Given the description of an element on the screen output the (x, y) to click on. 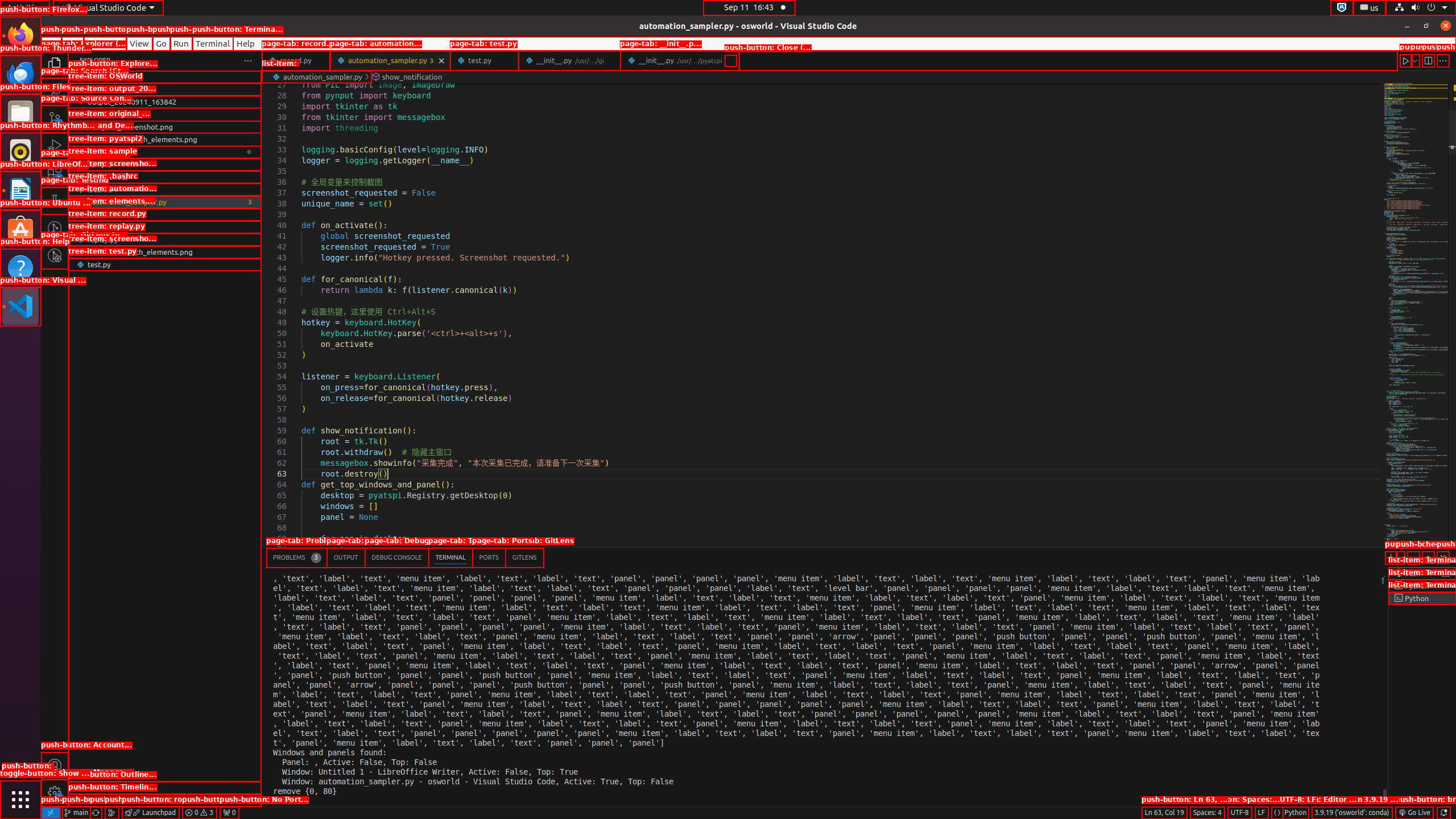
Terminal (Ctrl+`) Element type: page-tab (450, 557)
Timeline Section Element type: push-button (164, 799)
Terminal 5 Python Element type: list-item (1422, 598)
New Terminal (Ctrl+Shift+`) [Alt] Split Terminal (Ctrl+Shift+5) Element type: push-button (1390, 557)
__init__.py Element type: page-tab (679, 60)
